Given the description of an element on the screen output the (x, y) to click on. 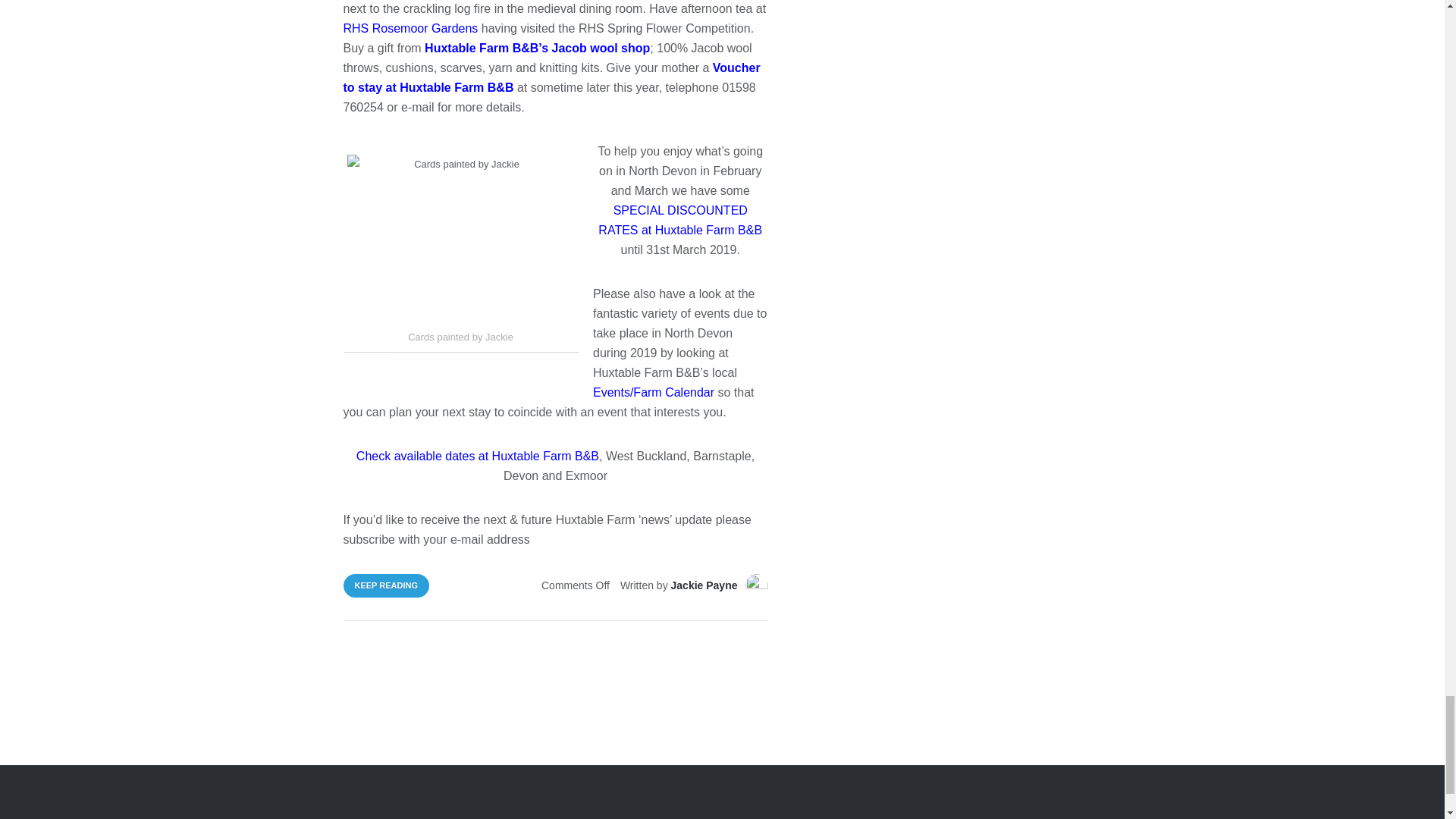
View all posts by Jackie Payne (704, 585)
